Given the description of an element on the screen output the (x, y) to click on. 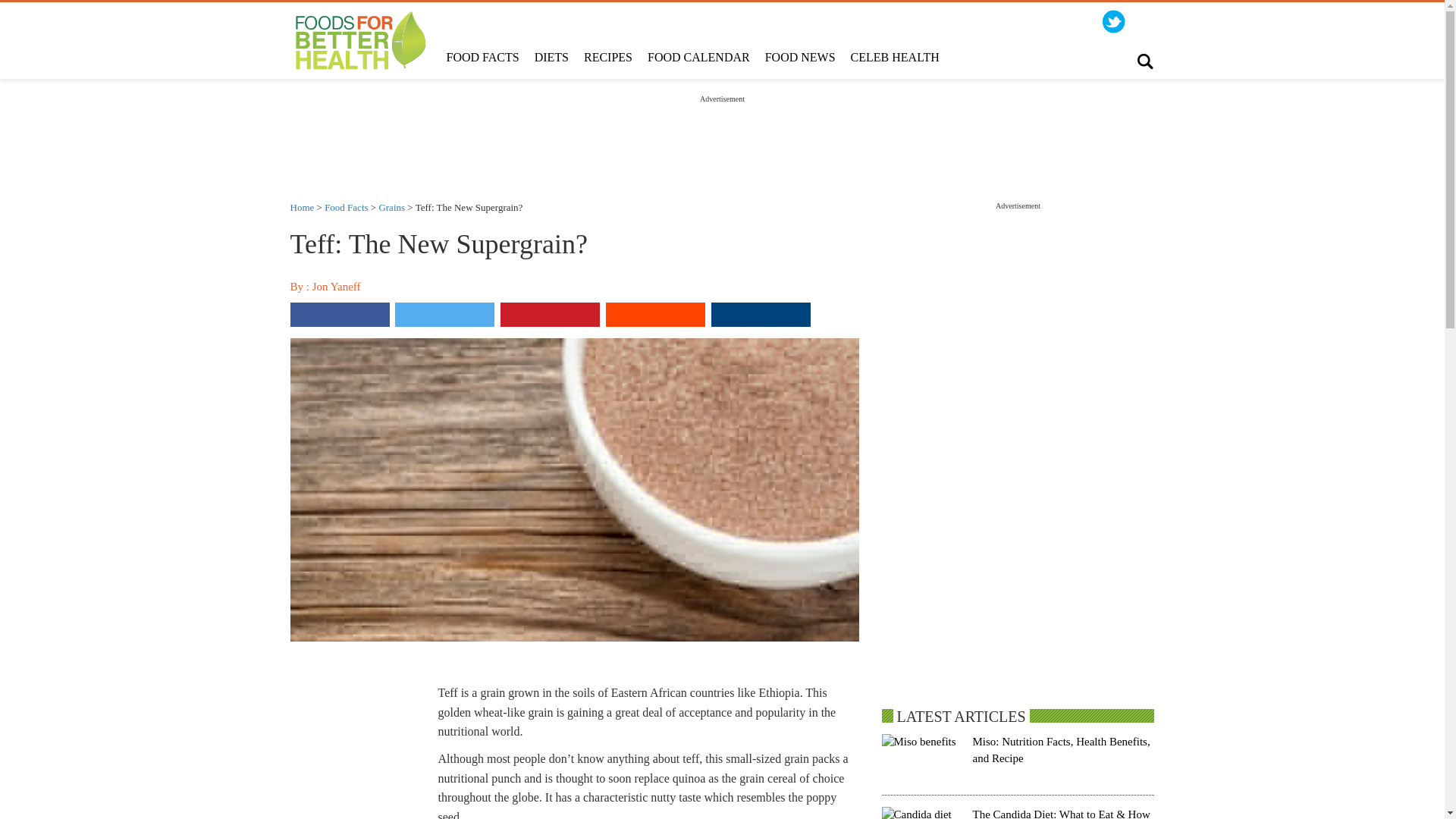
FOOD FACTS (481, 57)
FOOD NEWS (800, 57)
Posts by Jon Yaneff (337, 286)
CELEB HEALTH (895, 57)
Grains (391, 206)
RECIPES (608, 57)
DIETS (551, 57)
Home (301, 206)
Miso: Nutrition Facts, Health Benefits, and Recipe (1061, 749)
Food Facts (346, 206)
